Given the description of an element on the screen output the (x, y) to click on. 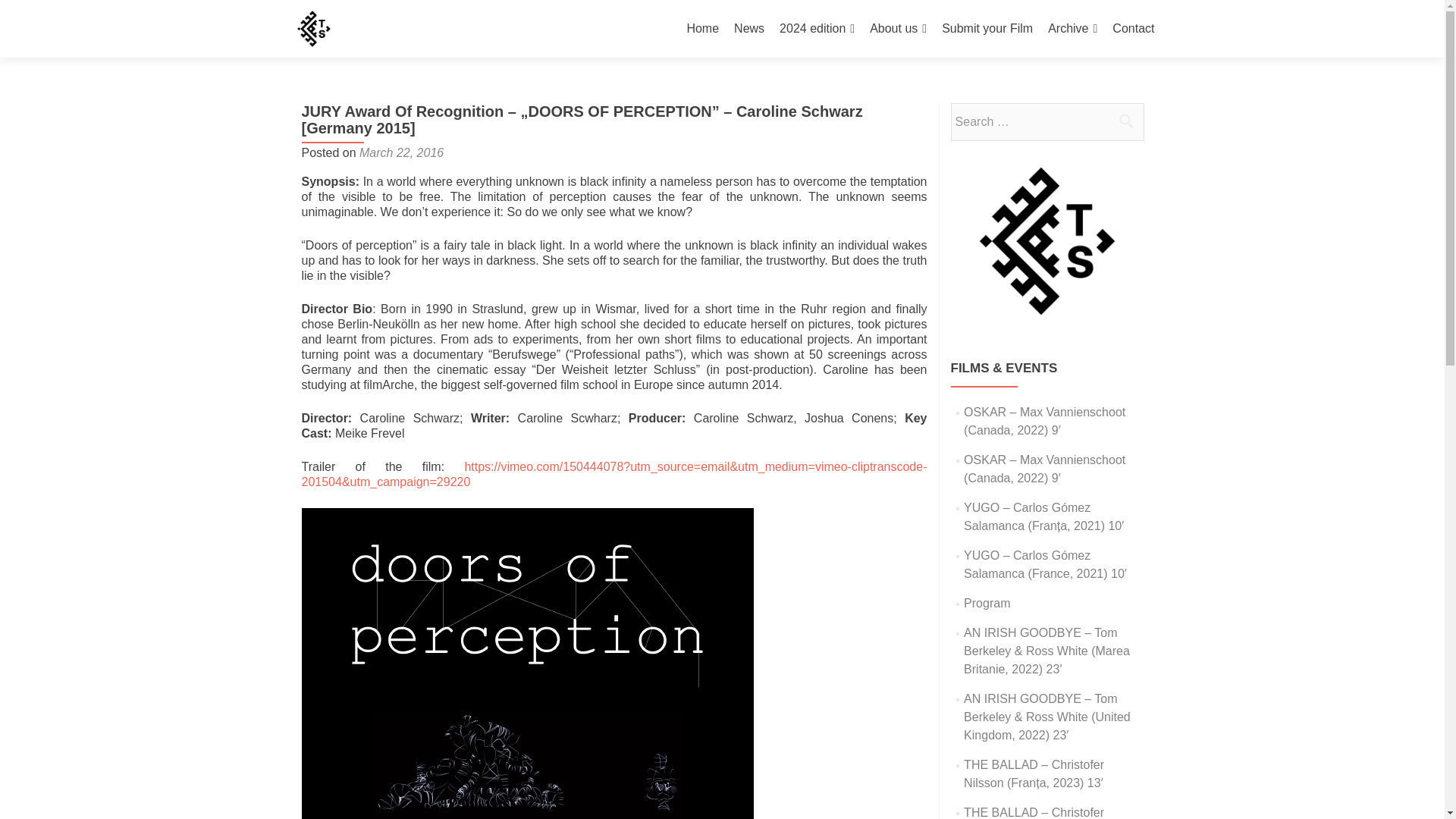
News (748, 28)
Home (702, 28)
Search (1125, 120)
Submit your Film (987, 28)
Archive (1072, 28)
About us (897, 28)
Search (1125, 120)
2024 edition (816, 28)
